Given the description of an element on the screen output the (x, y) to click on. 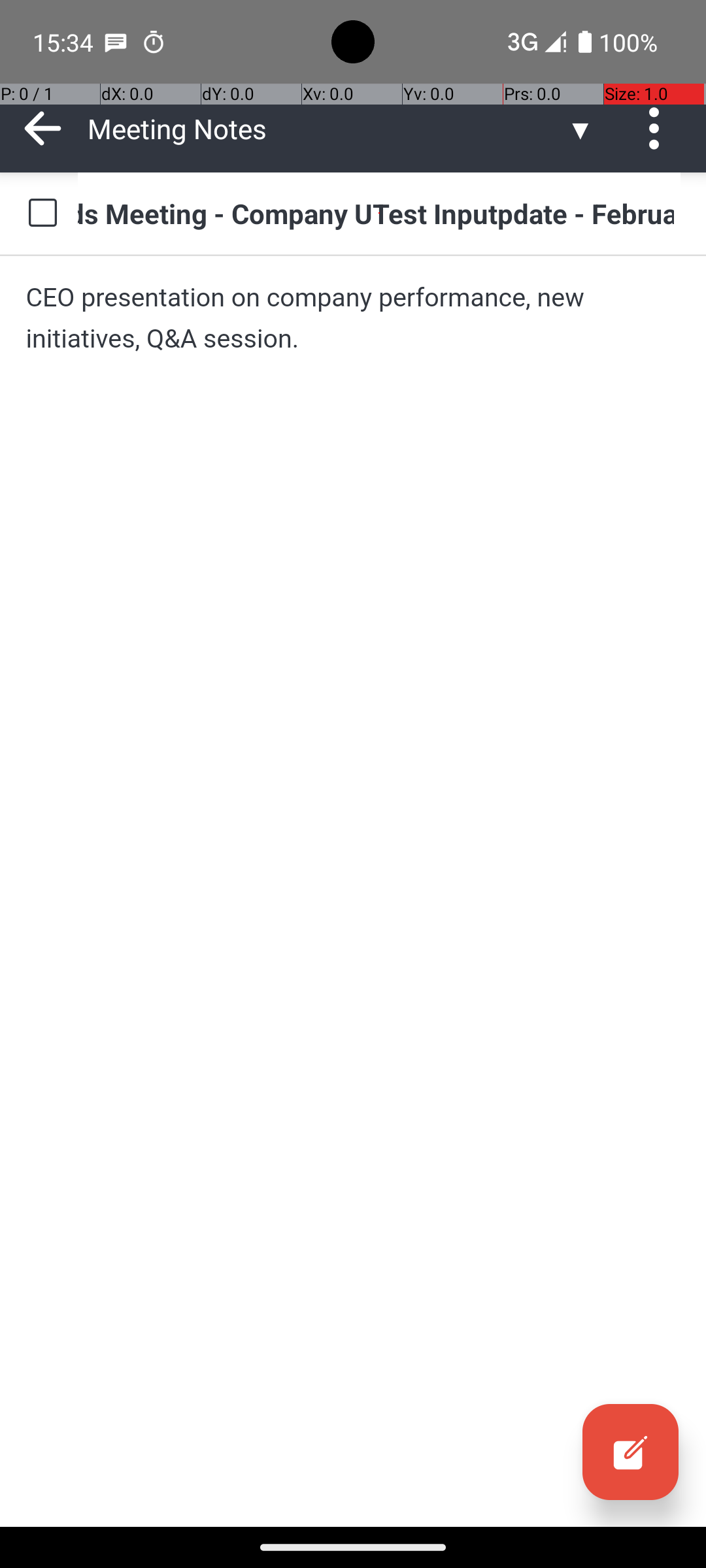
All-Hands Meeting - Company UTest Inputpdate - February 7, 2024 Element type: android.widget.EditText (378, 213)
CEO presentation on company performance, new initiatives, Q&A session. Element type: android.widget.TextView (352, 317)
